Given the description of an element on the screen output the (x, y) to click on. 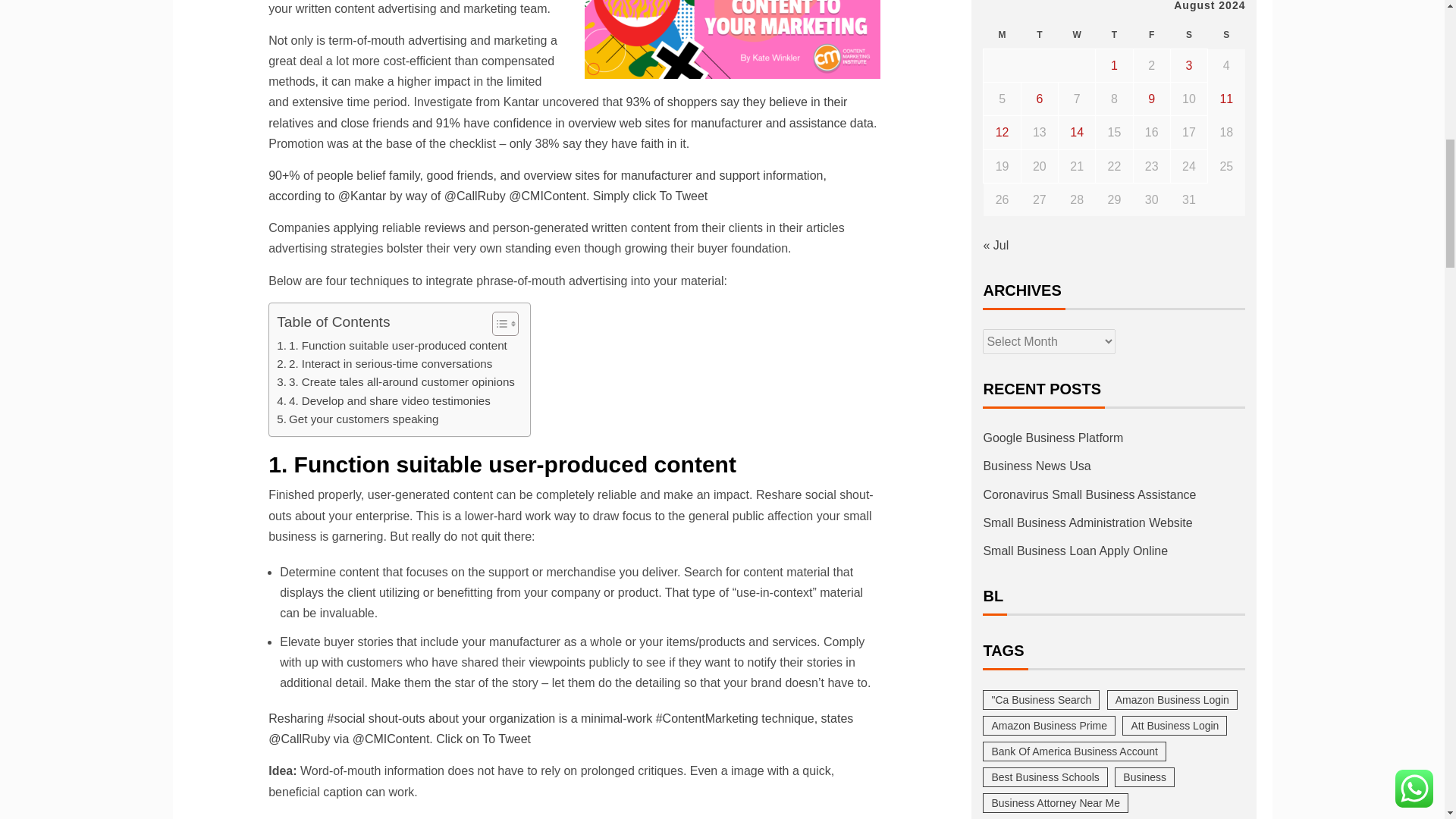
1. Function suitable user-produced content (391, 345)
2. Interact in serious-time conversations (384, 363)
1. Function suitable user-produced content (391, 345)
4. Develop and share video testimonies (383, 401)
Get your customers speaking (357, 419)
How To Bring Big Word-of-Mouth Content to Your Marketing (732, 39)
3. Create tales all-around customer opinions (395, 382)
Simply click To Tweet (649, 195)
2. Interact in serious-time conversations (384, 363)
